Given the description of an element on the screen output the (x, y) to click on. 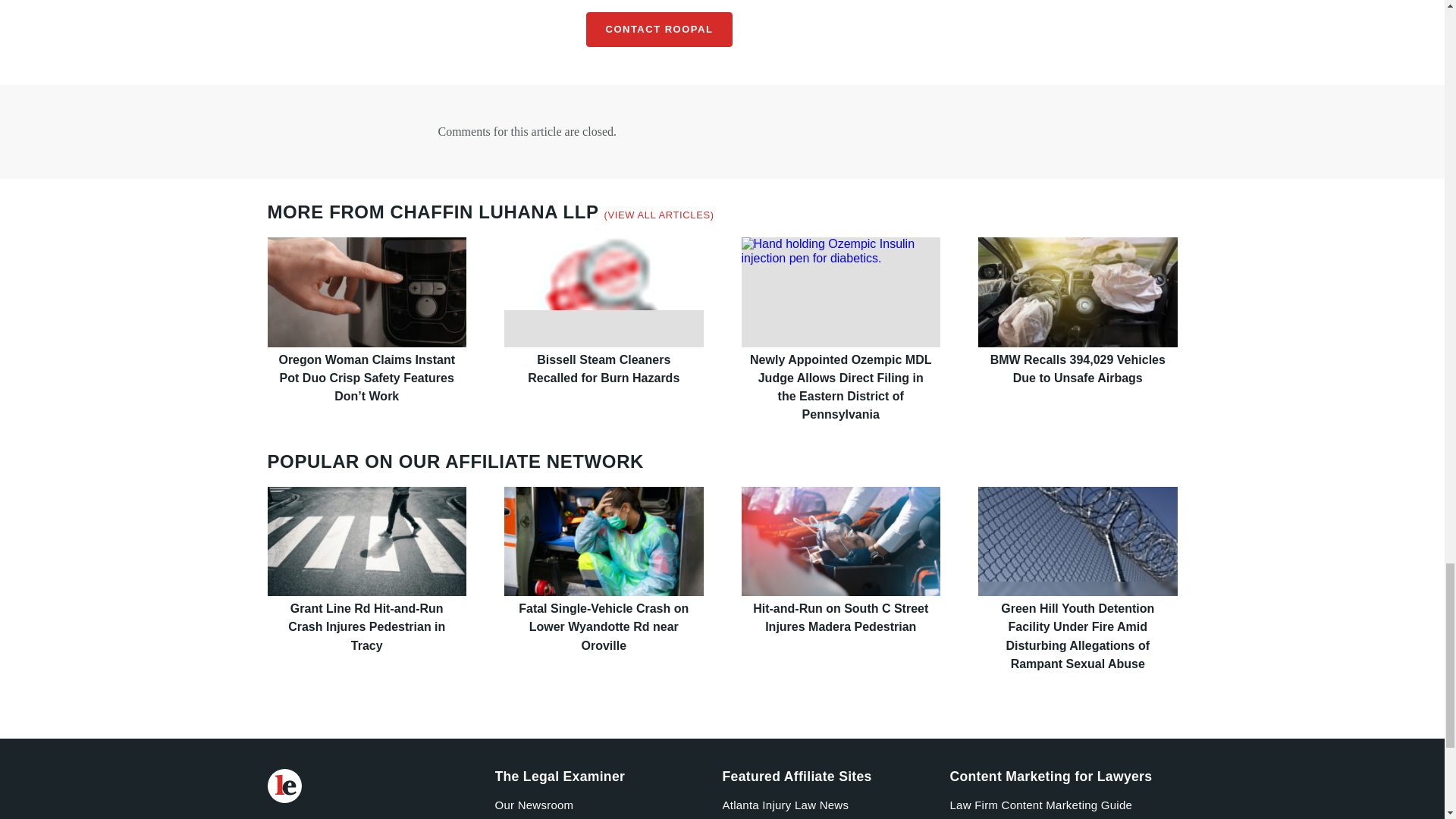
Hit-and-Run on South C Street Injures Madera Pedestrian (840, 541)
Grant Line Rd Hit-and-Run Crash Injures Pedestrian in Tracy (365, 541)
Bissell Steam Cleaners Recalled for Burn Hazards (603, 291)
BMW Recalls 394,029 Vehicles Due to Unsafe Airbags (1077, 291)
